Given the description of an element on the screen output the (x, y) to click on. 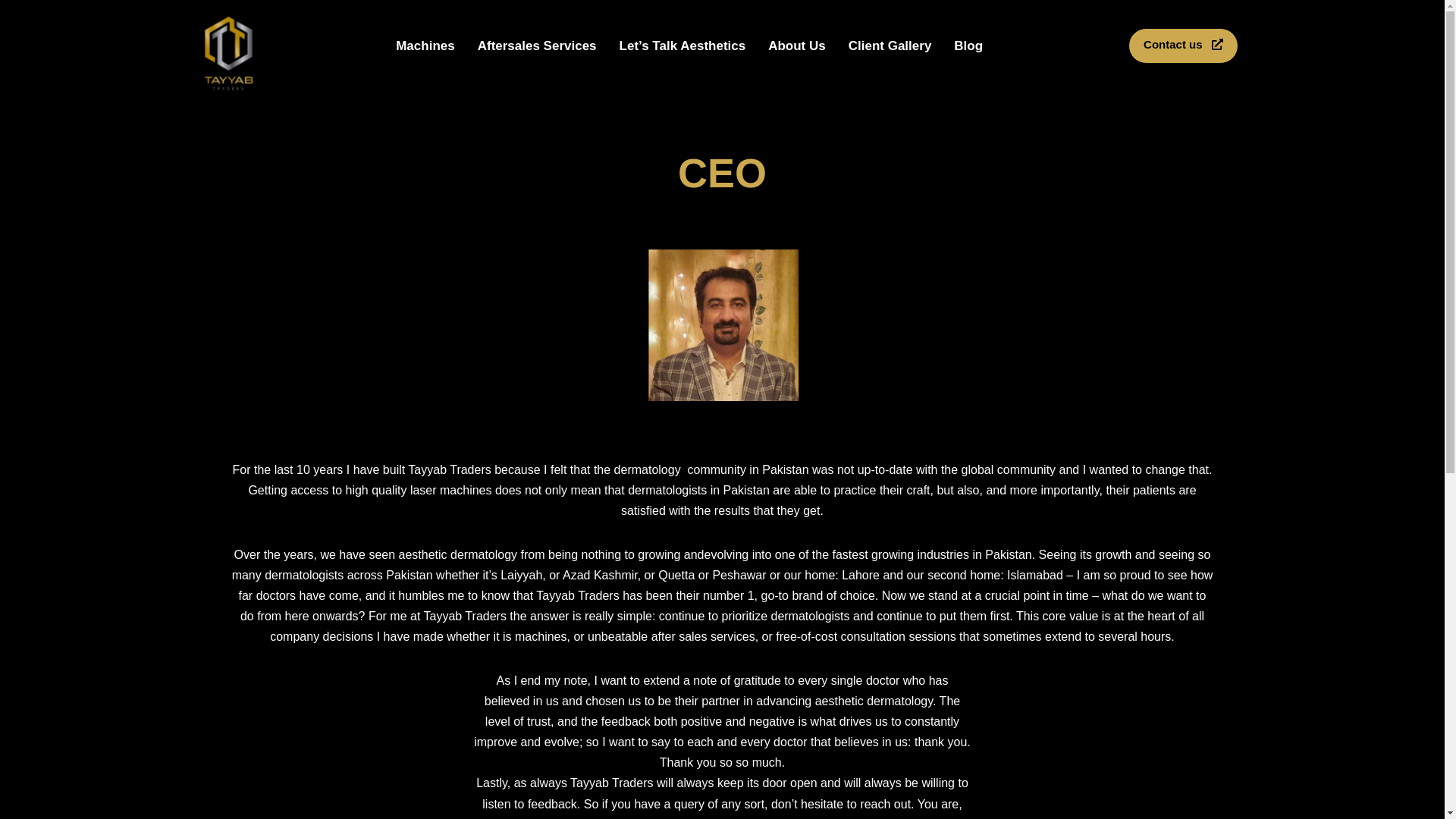
Skip to content (11, 31)
Aftersales Services (536, 45)
Machines (424, 45)
Blog (968, 45)
About Us (797, 45)
Client Gallery (890, 45)
Contact us (1183, 45)
